Given the description of an element on the screen output the (x, y) to click on. 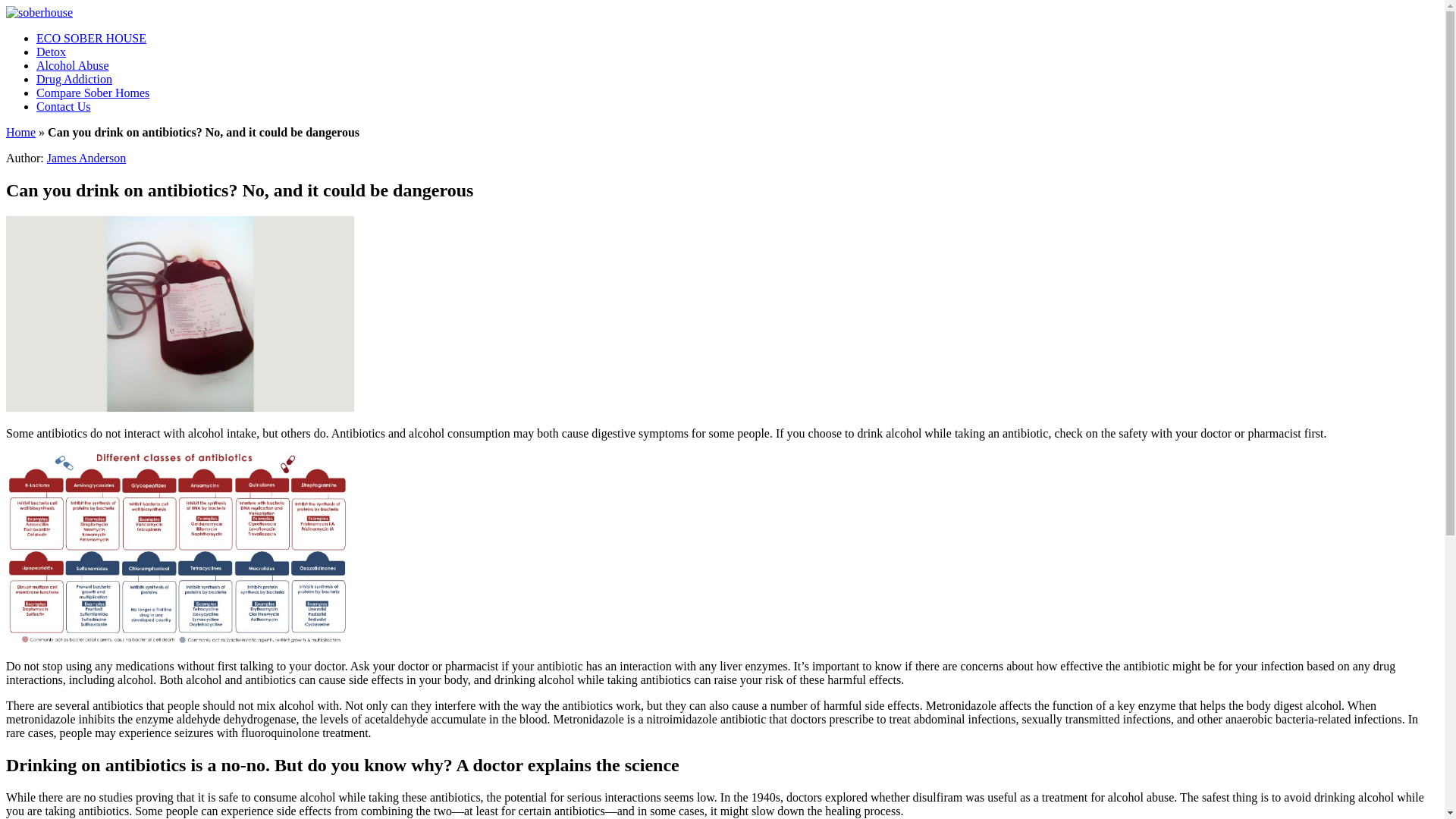
Alcohol Abuse (72, 65)
ECO SOBER HOUSE (91, 38)
Compare Sober Homes (92, 92)
Drug Addiction (74, 78)
Detox (50, 51)
Home (19, 132)
Contact Us (63, 106)
James Anderson (85, 157)
